Given the description of an element on the screen output the (x, y) to click on. 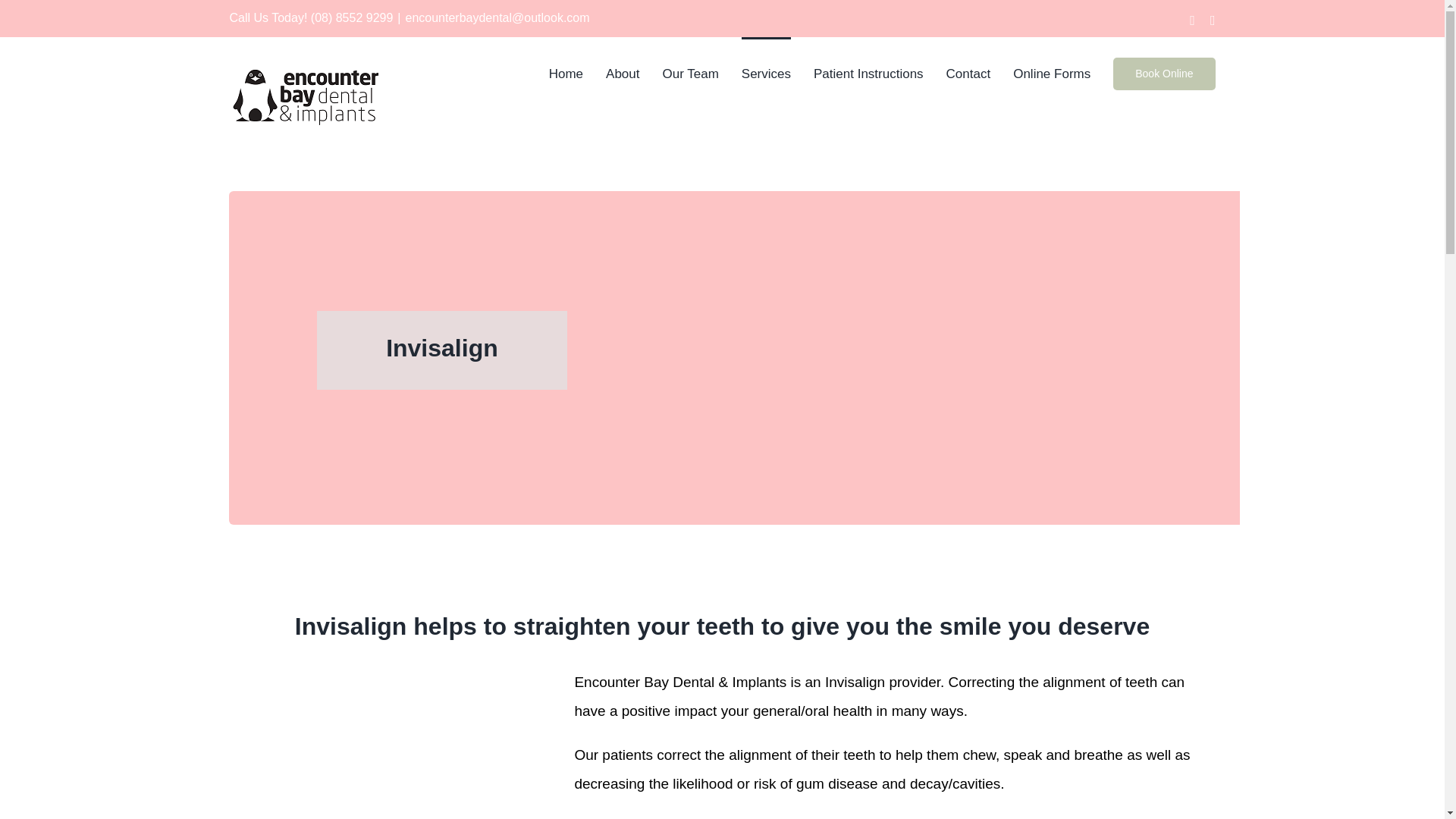
Patient Instructions (868, 72)
Facebook (1192, 20)
Screen Shot 2022-07-28 at 1.50.04 pm (376, 743)
Home (565, 72)
Our Team (690, 72)
Book Online (1163, 72)
About (622, 72)
Instagram (1212, 20)
Contact (968, 72)
Services (765, 72)
Facebook (1192, 20)
Online Forms (1051, 72)
Instagram (1212, 20)
